Given the description of an element on the screen output the (x, y) to click on. 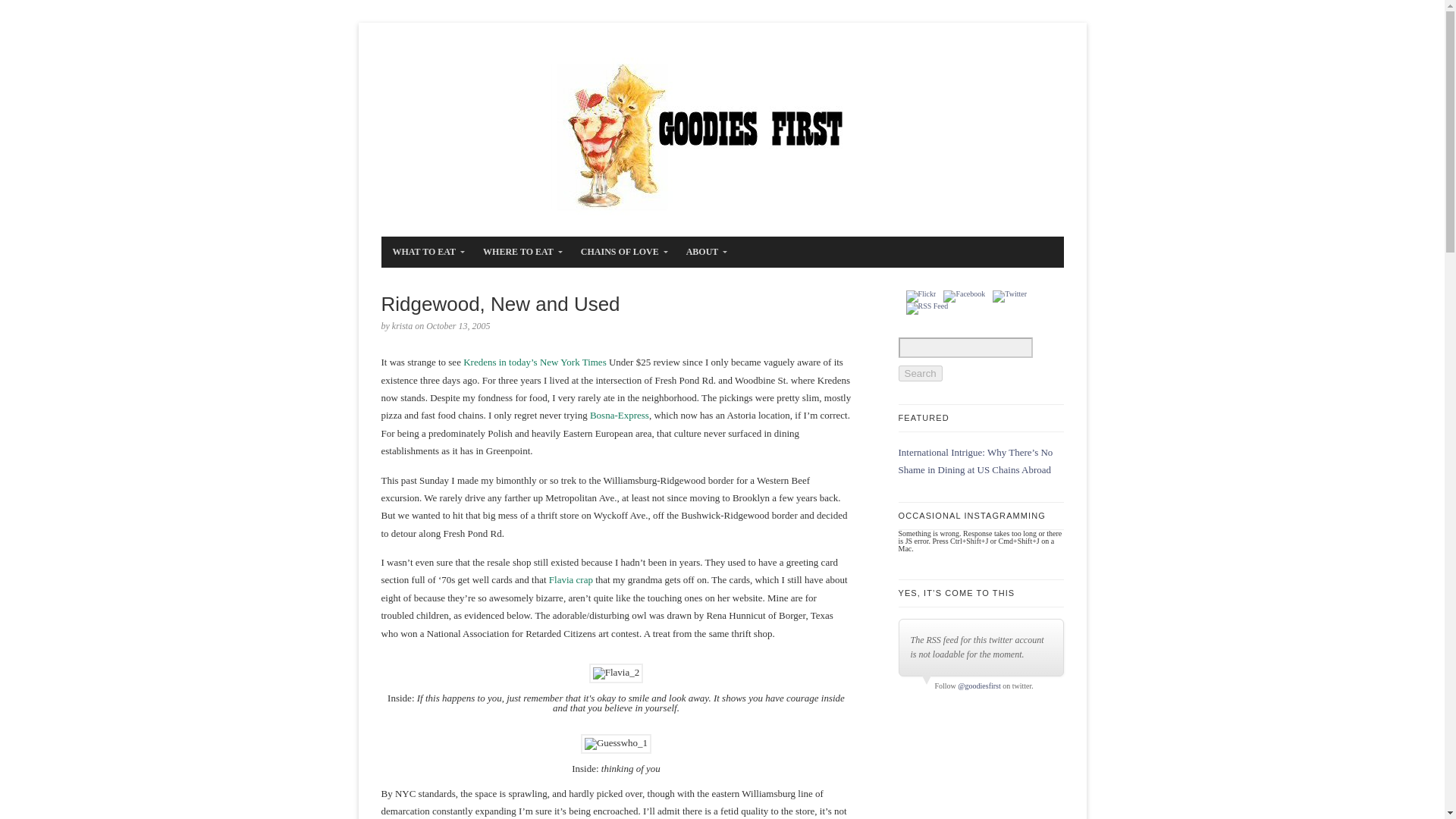
RSS (926, 308)
WHAT TO EAT (425, 251)
WHERE TO EAT (519, 251)
Search (920, 373)
Twitter (1009, 296)
Facebook (964, 296)
Flickr (920, 296)
